Given the description of an element on the screen output the (x, y) to click on. 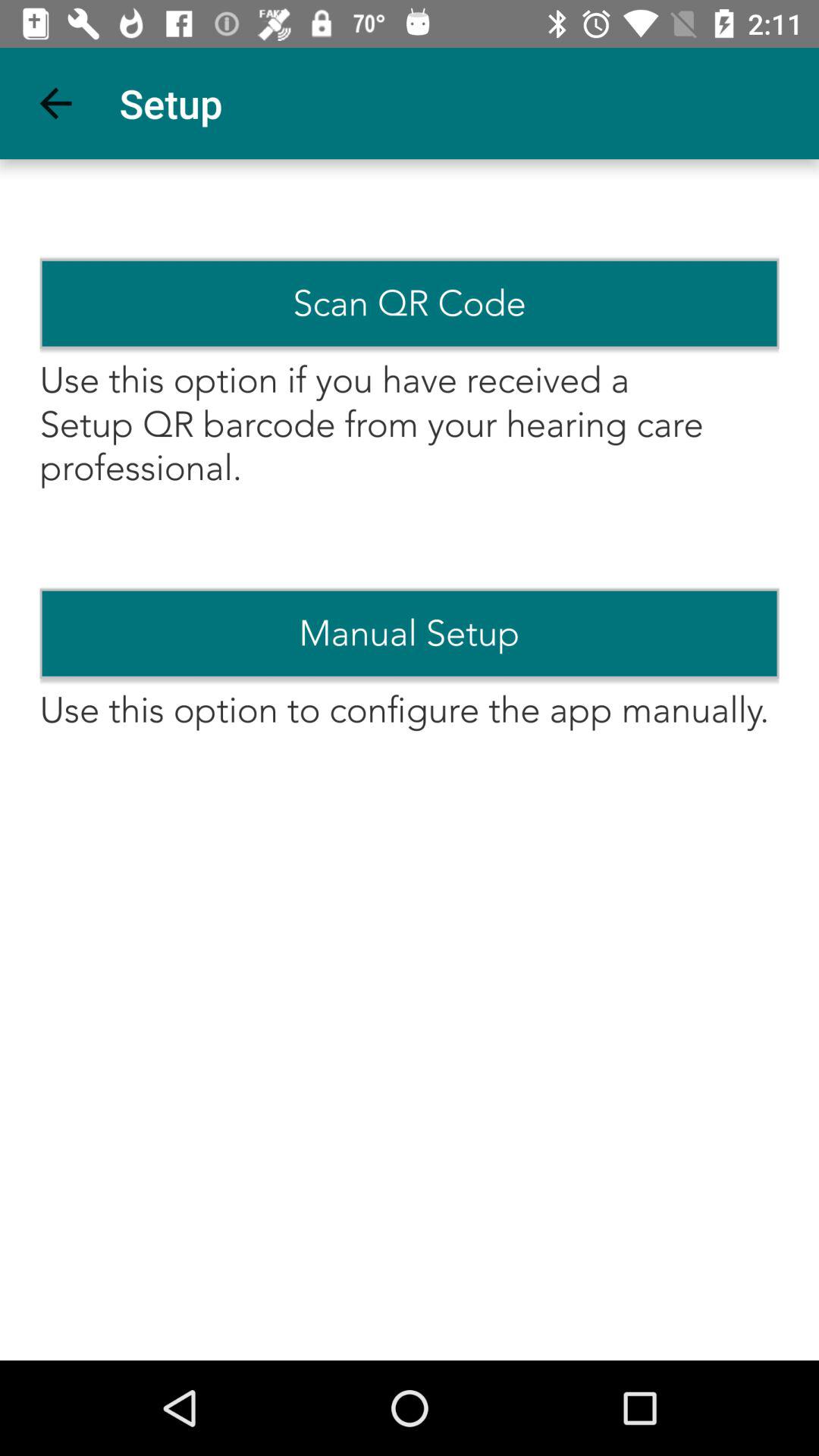
turn on the item above the use this option (409, 303)
